Given the description of an element on the screen output the (x, y) to click on. 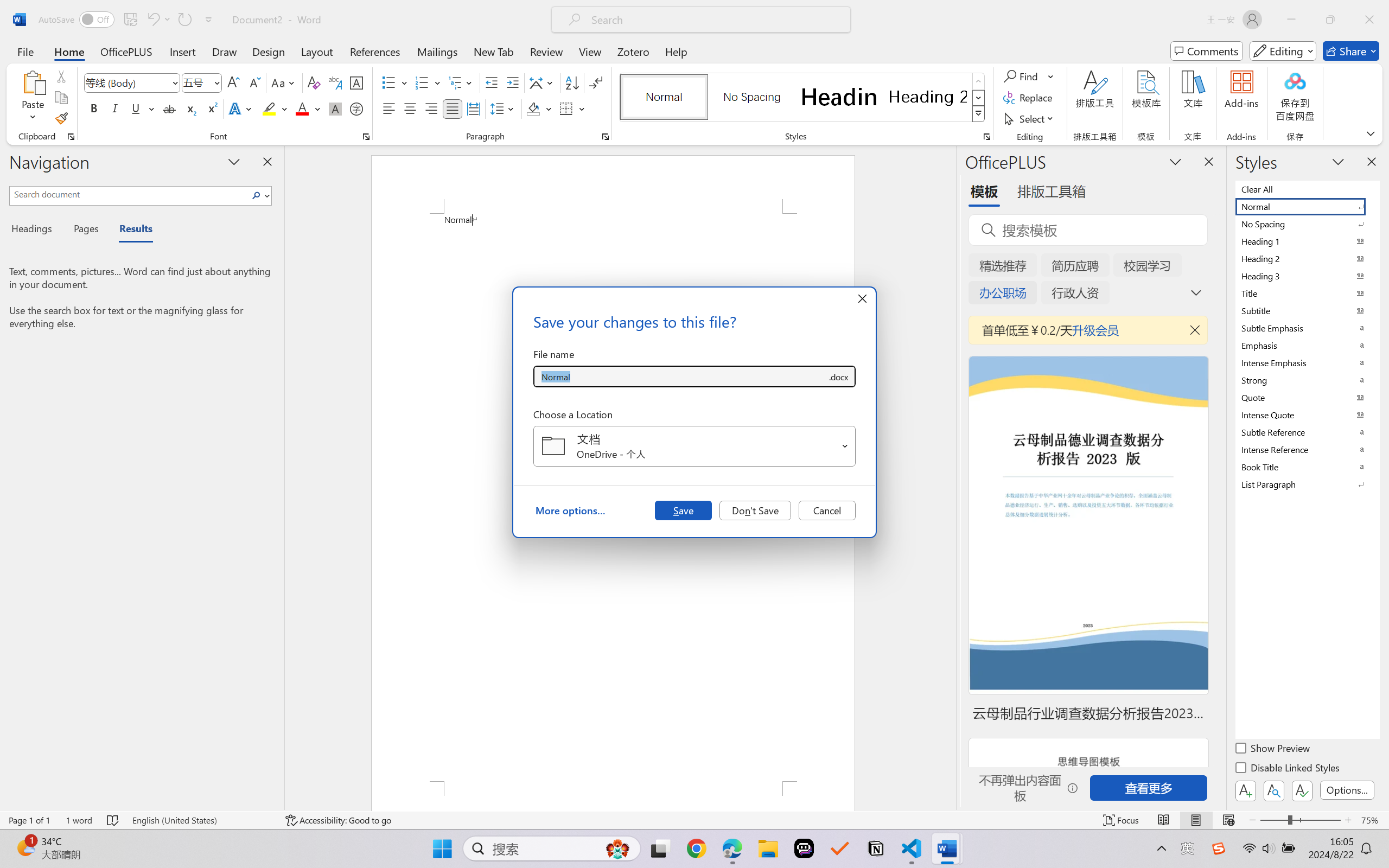
Show/Hide Editing Marks (595, 82)
Line and Paragraph Spacing (503, 108)
Open (844, 446)
Paragraph... (605, 136)
Google Chrome (696, 848)
Normal (1306, 206)
Close (1369, 19)
Find (1022, 75)
Search (259, 195)
